Given the description of an element on the screen output the (x, y) to click on. 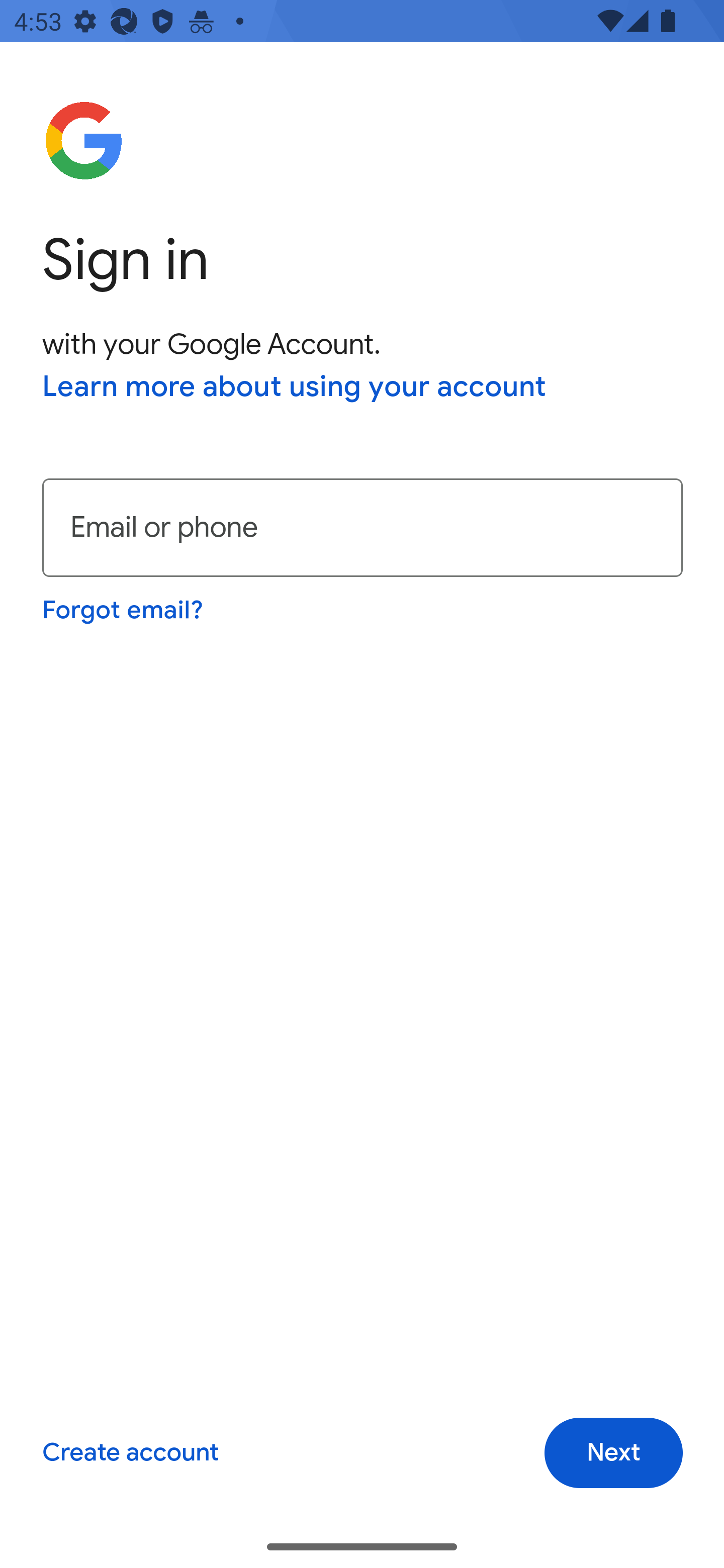
Learn more about using your account (294, 388)
Forgot email? (123, 609)
Next (613, 1453)
Create account (129, 1453)
